Given the description of an element on the screen output the (x, y) to click on. 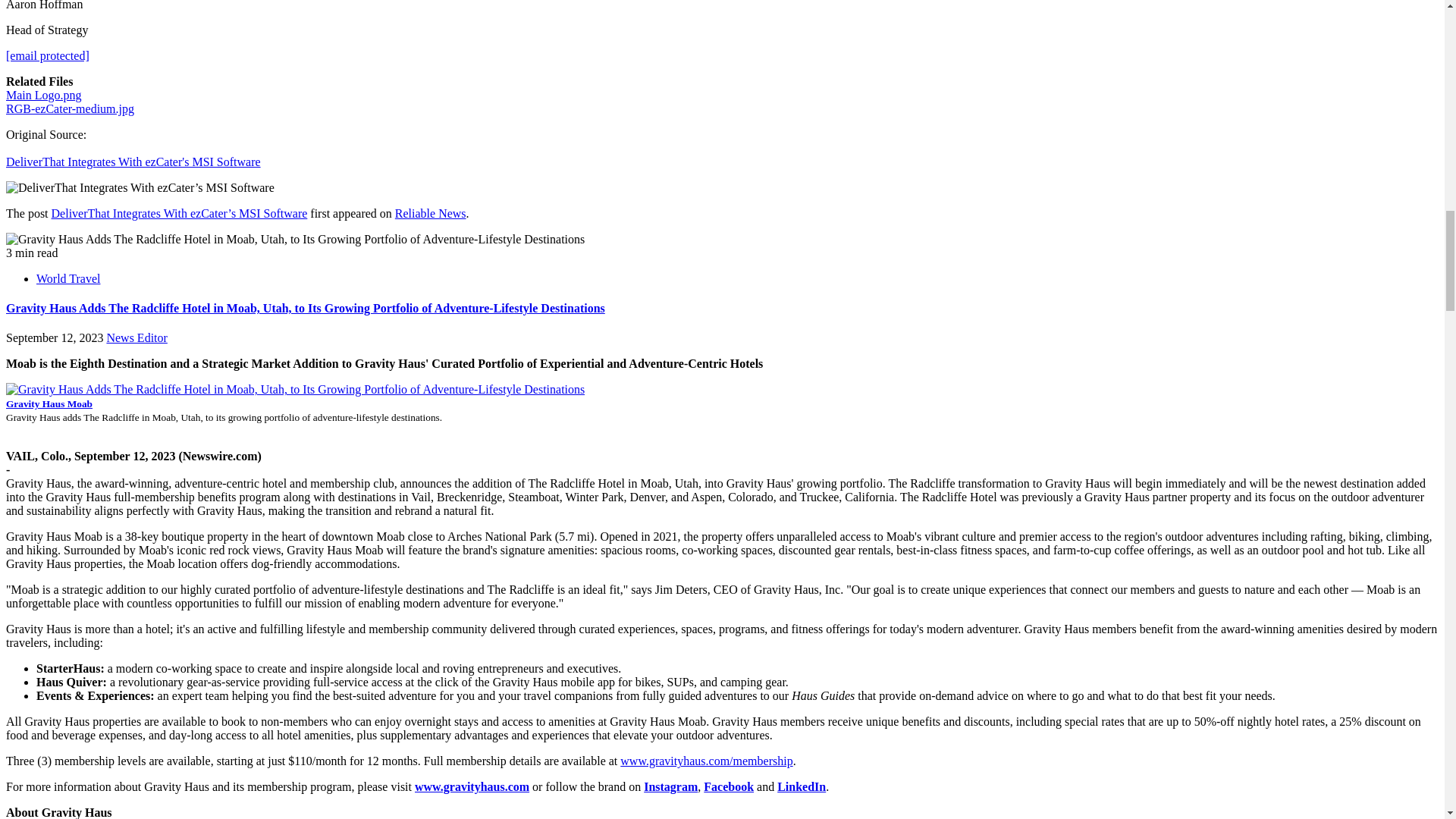
DeliverThat Integrates With ezCater's MSI Software (132, 168)
Main Logo.png (43, 94)
RGB-ezCater-medium.jpg (69, 108)
